Given the description of an element on the screen output the (x, y) to click on. 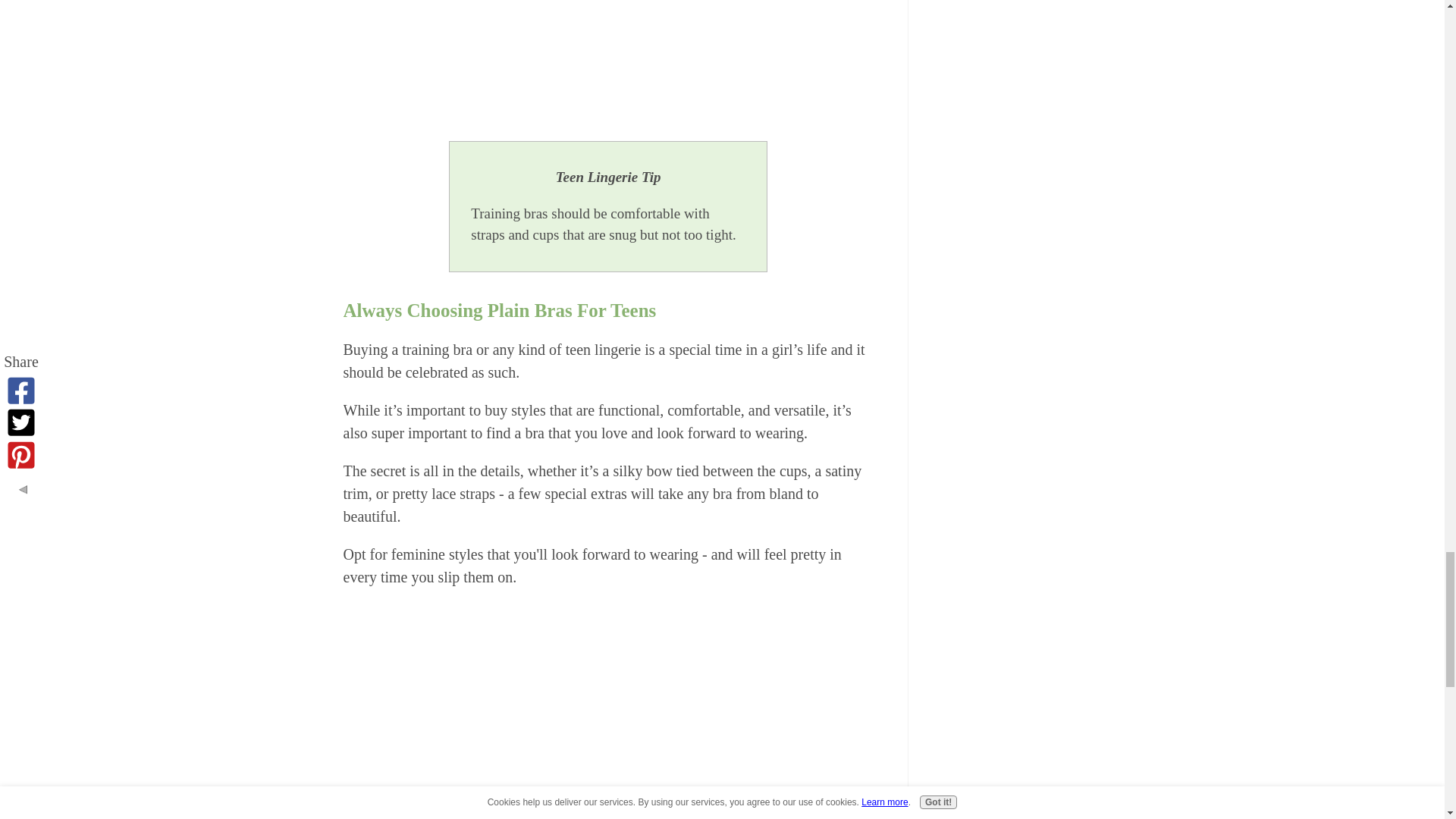
teen lingerie (607, 29)
teen underwear (607, 709)
